Given the description of an element on the screen output the (x, y) to click on. 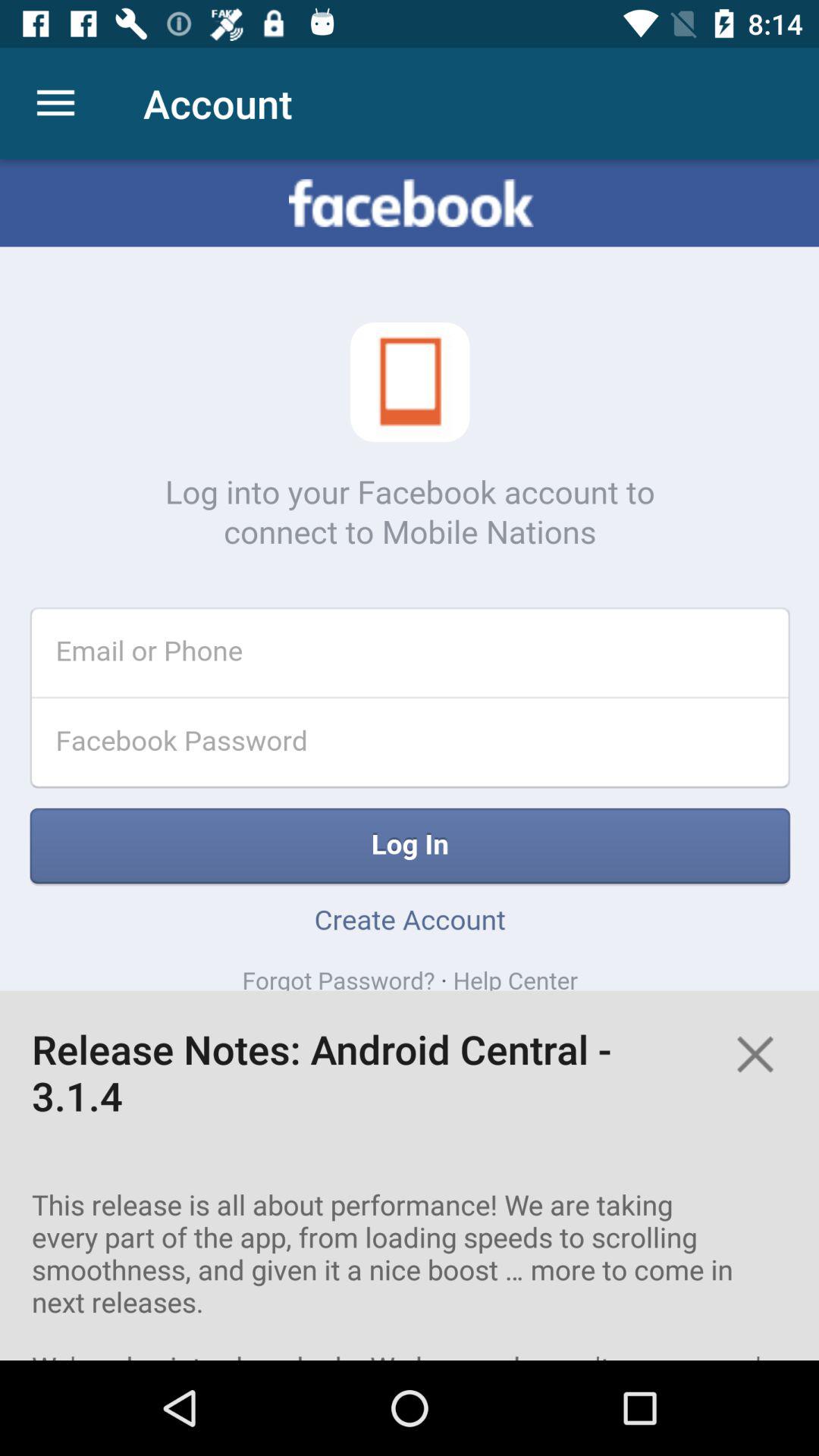
close notes (755, 1054)
